Given the description of an element on the screen output the (x, y) to click on. 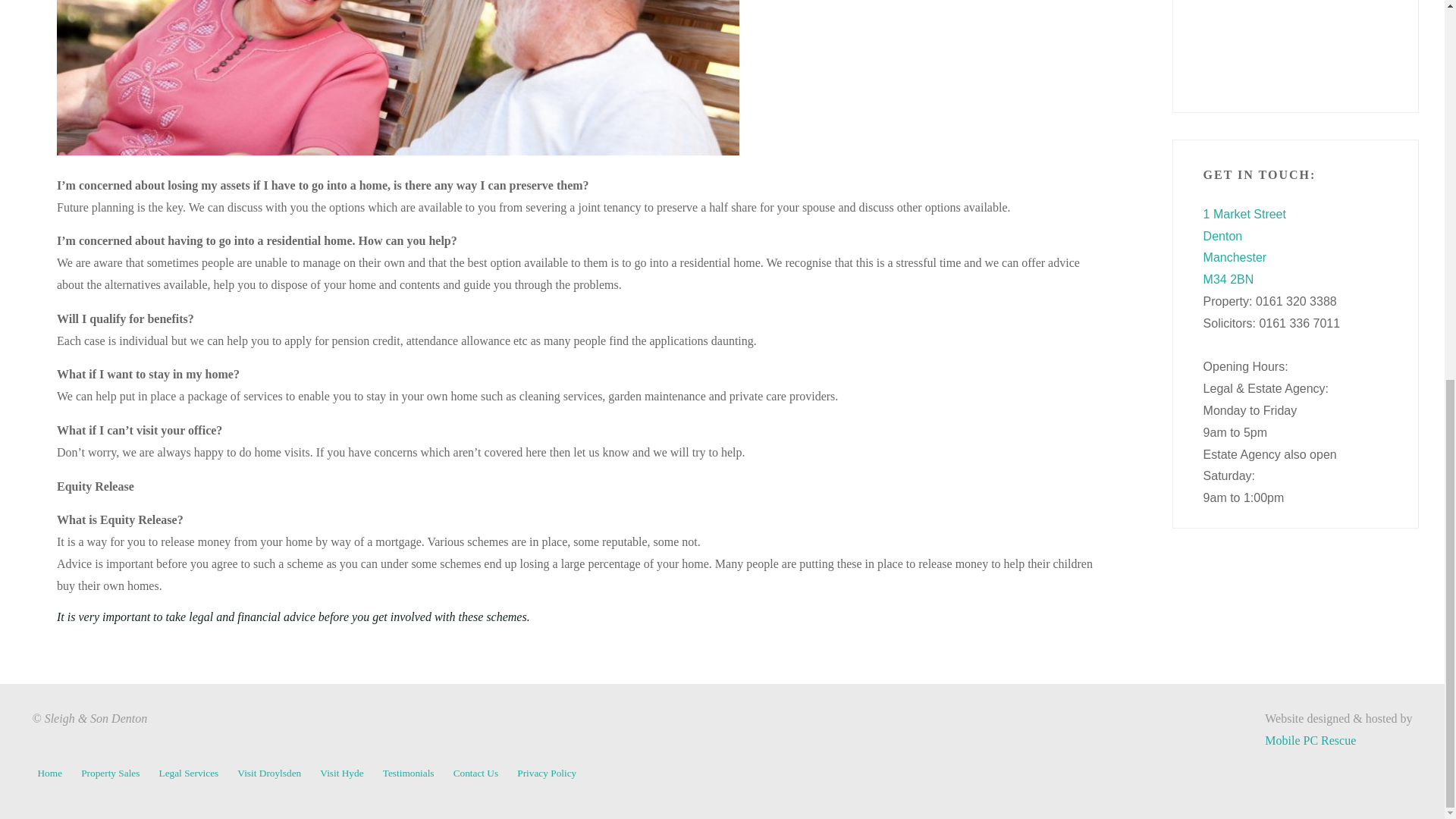
Mobile PC Rescue (1310, 739)
